Given the description of an element on the screen output the (x, y) to click on. 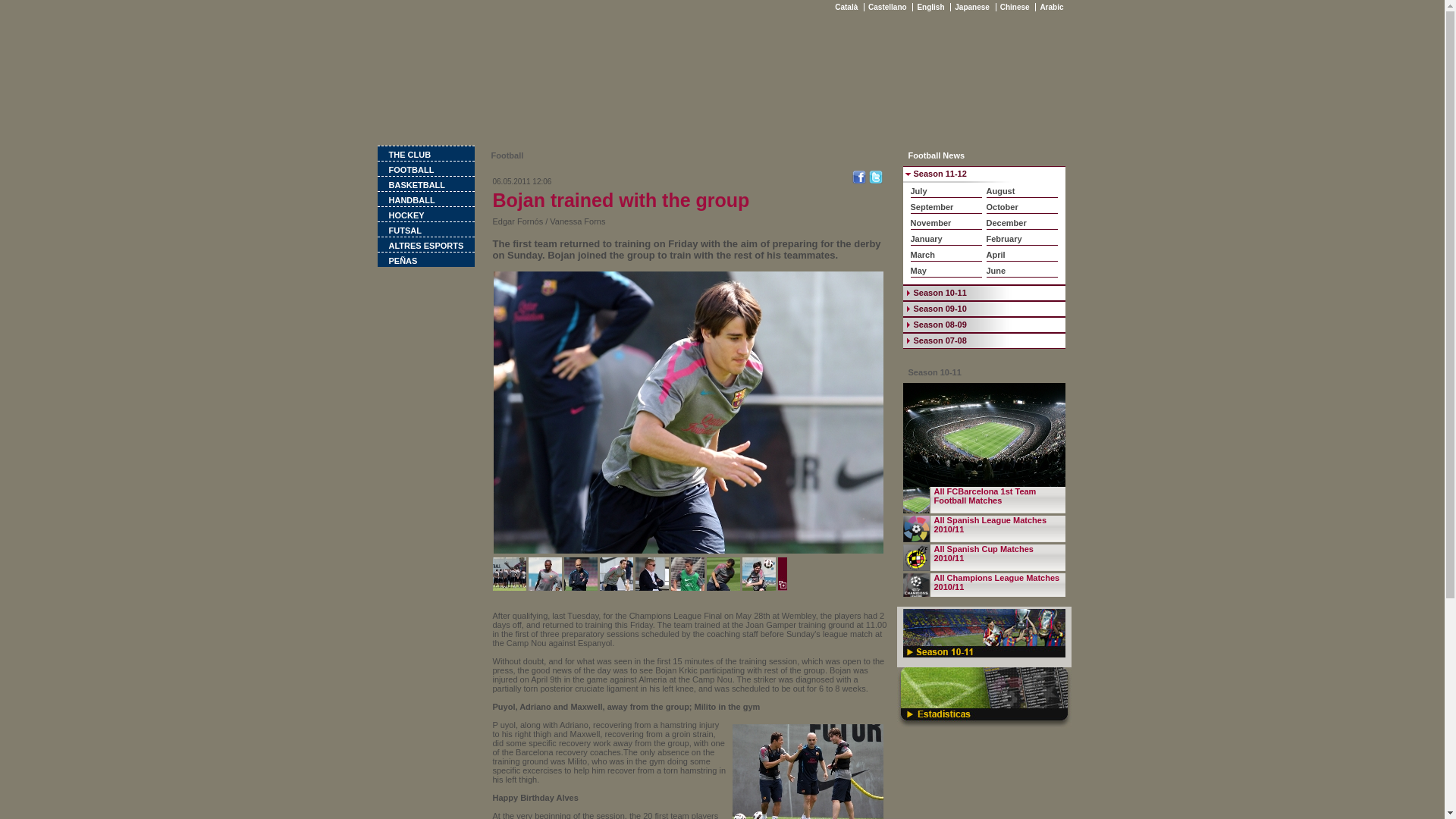
Share with Twitter (875, 180)
FOOTBALL (425, 168)
Japanese (971, 7)
English (929, 7)
Chinese website (1014, 7)
Japanese website (971, 7)
THE CLUB (425, 152)
English website (929, 7)
Arabic (1051, 7)
BASKETBALL (425, 183)
Arabic website (1051, 7)
Chinese (1014, 7)
Share with Facebook (858, 180)
Castellano (887, 7)
